Given the description of an element on the screen output the (x, y) to click on. 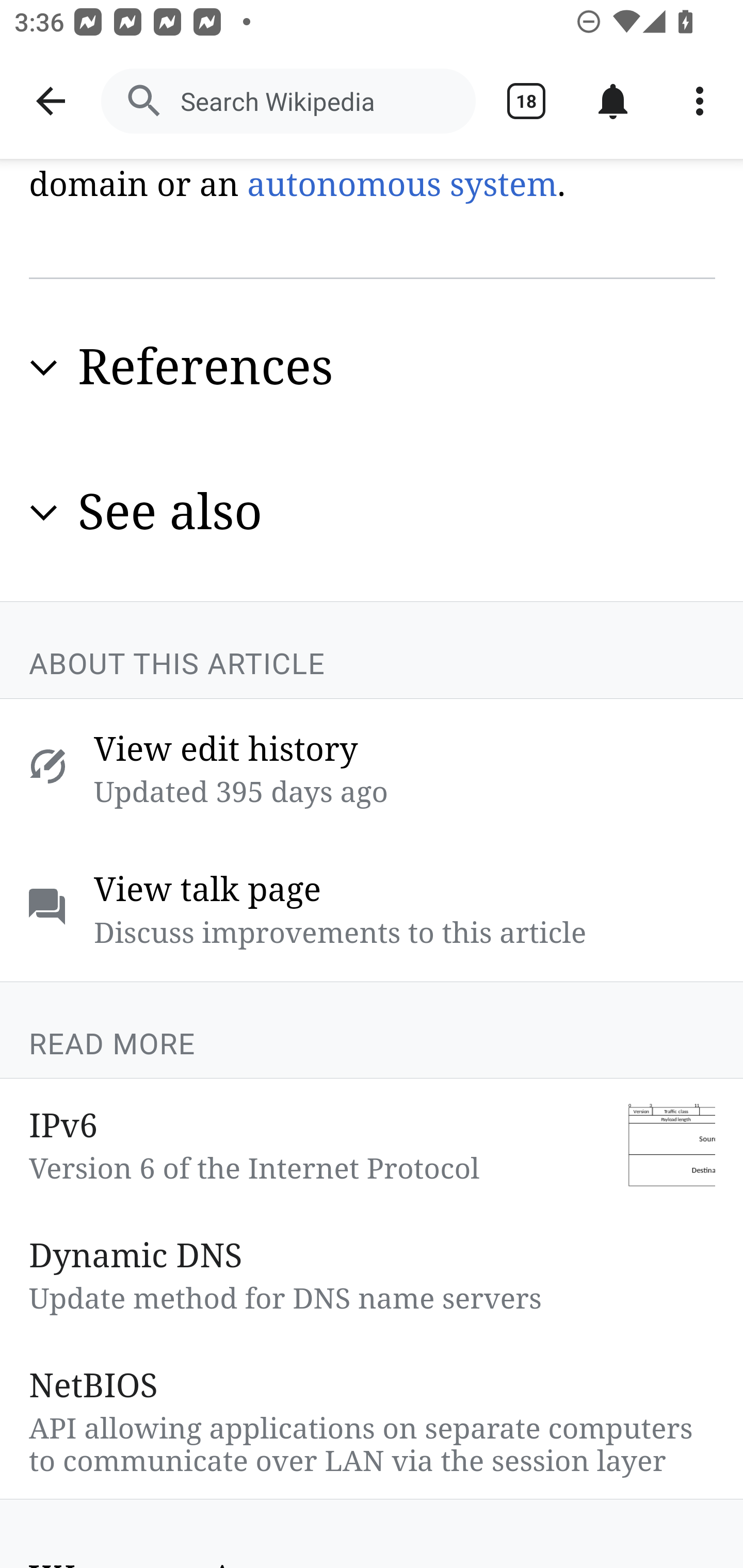
Show tabs 18 (525, 100)
Notifications (612, 100)
Navigate up (50, 101)
More options (699, 101)
Search Wikipedia (288, 100)
autonomous system (401, 185)
Expand section References (372, 369)
Expand section (43, 369)
Expand section See also (372, 514)
Expand section (43, 513)
